Given the description of an element on the screen output the (x, y) to click on. 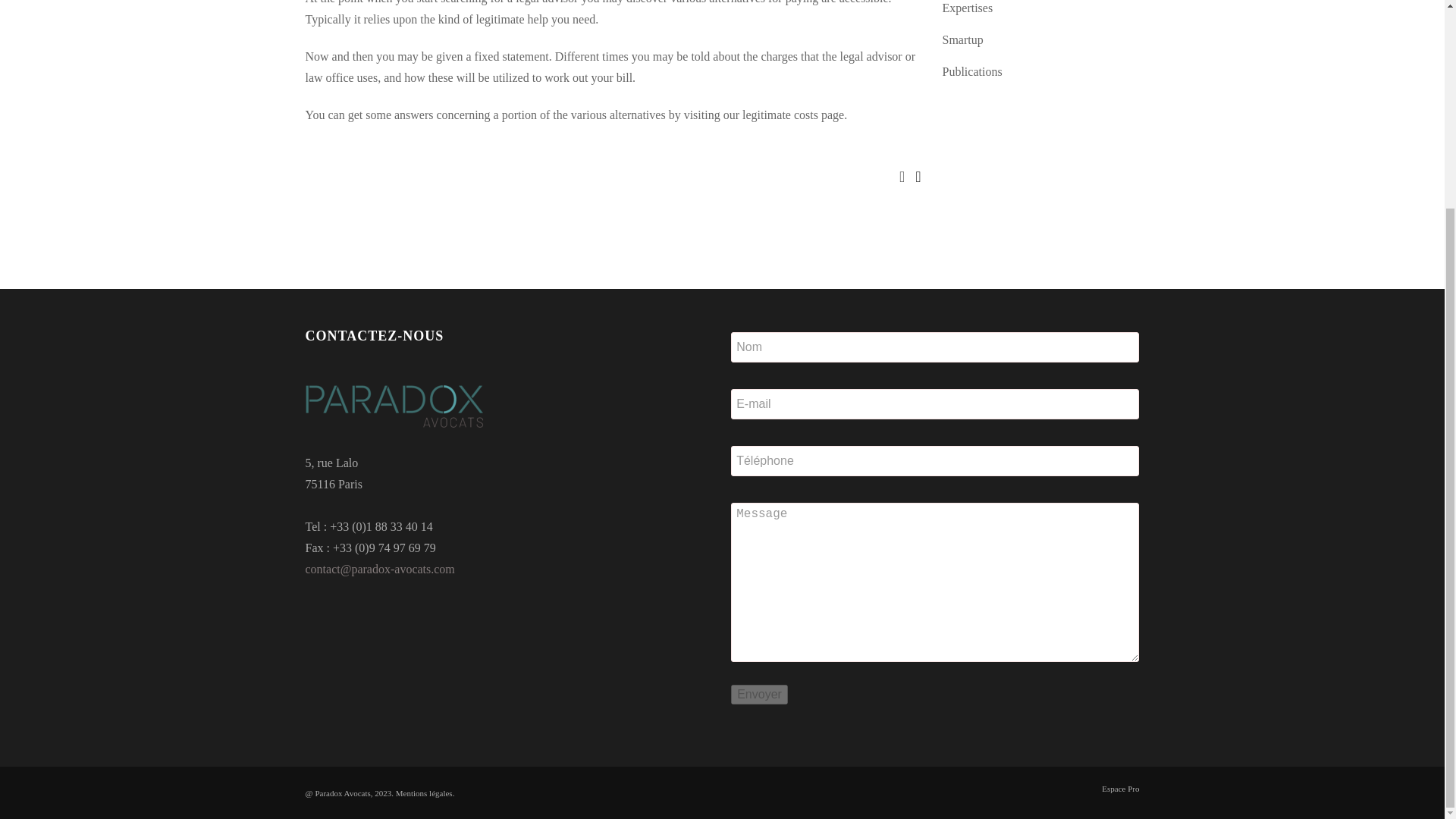
Envoyer (758, 694)
Publications (971, 71)
Smartup (962, 39)
Expertises (967, 7)
Envoyer (758, 694)
